Given the description of an element on the screen output the (x, y) to click on. 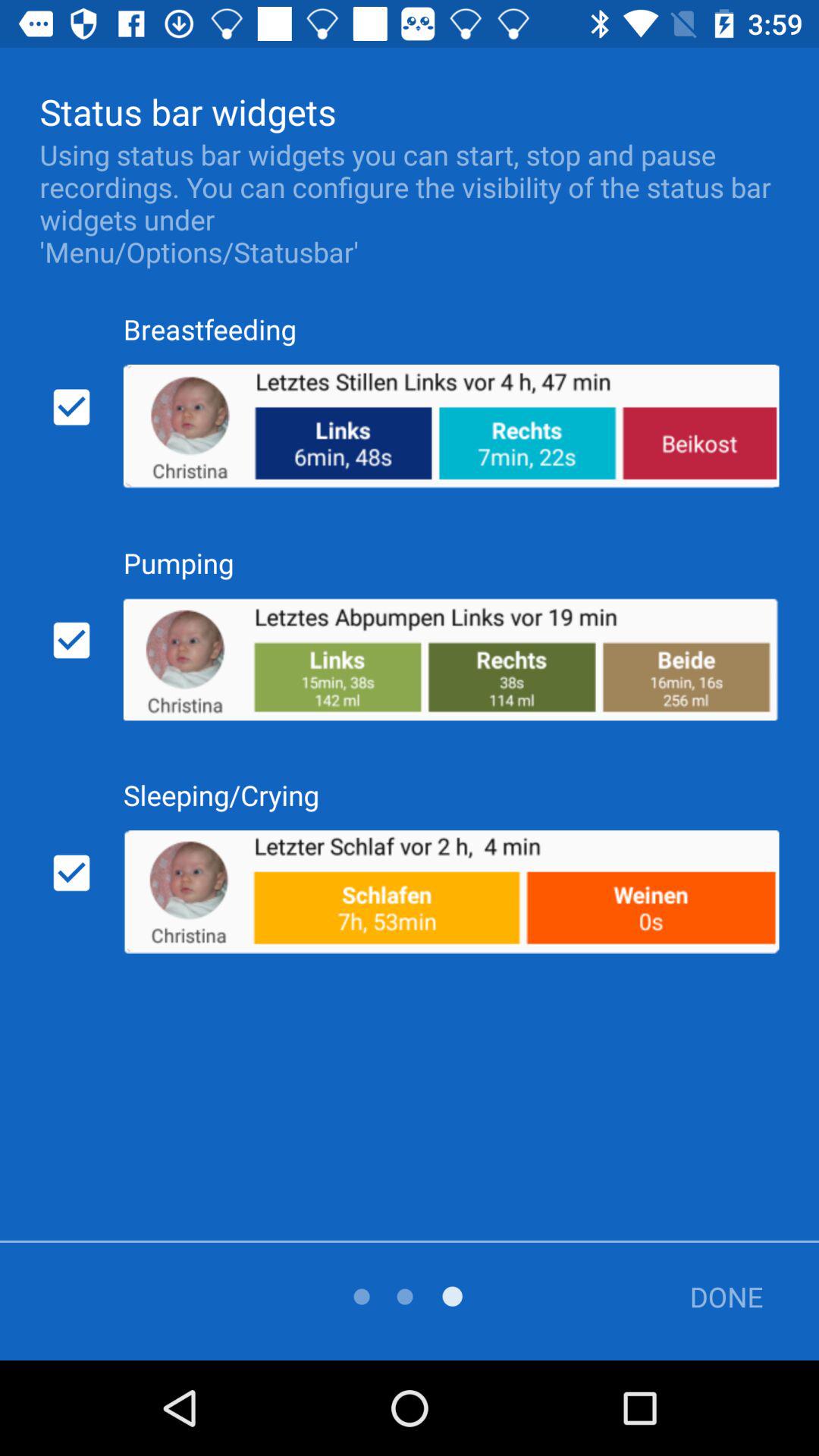
click to deselect option (71, 407)
